Given the description of an element on the screen output the (x, y) to click on. 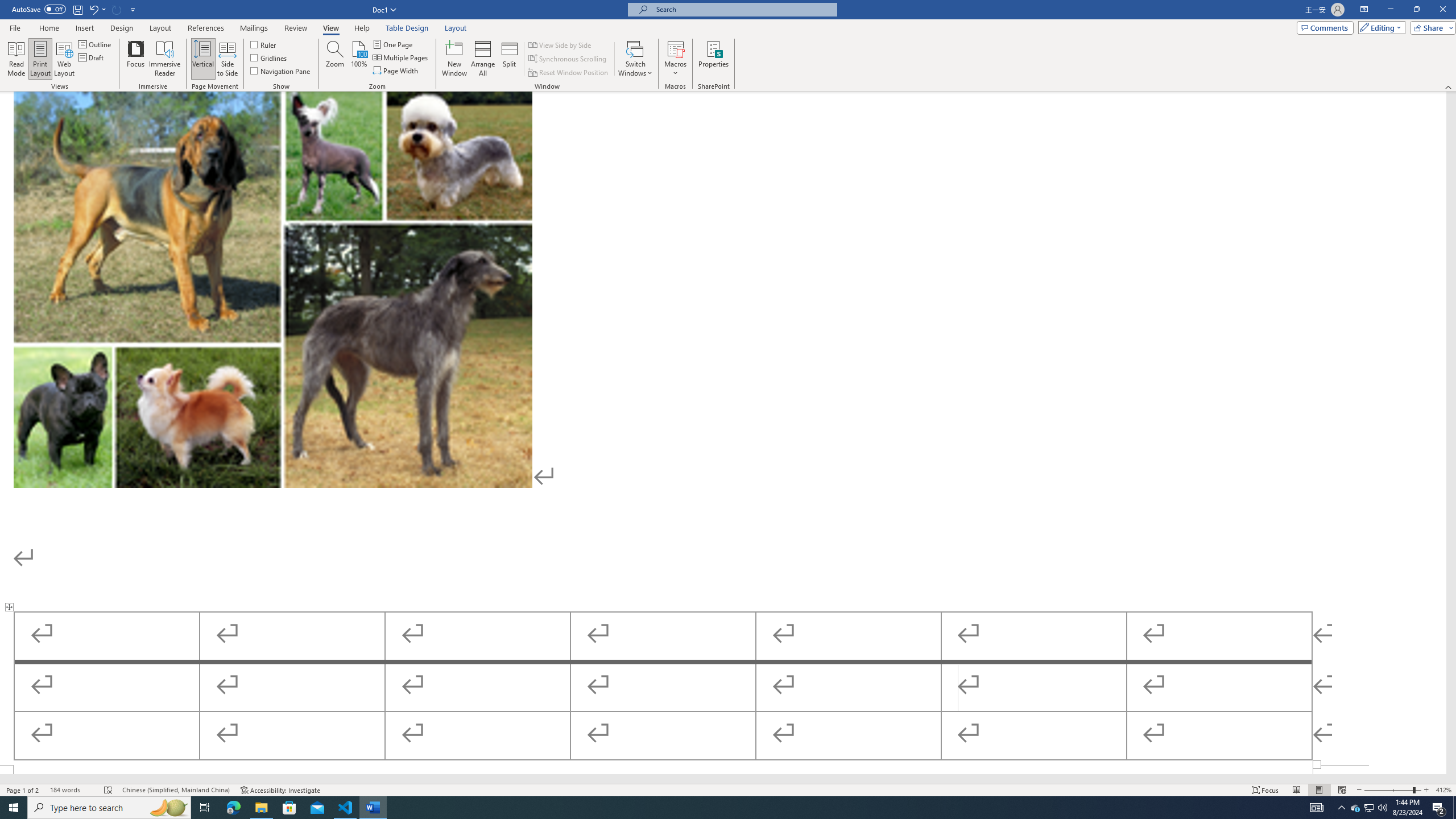
One Page (393, 44)
Can't Repeat (117, 9)
Gridlines (269, 56)
Undo Row Height Spinner (92, 9)
